Given the description of an element on the screen output the (x, y) to click on. 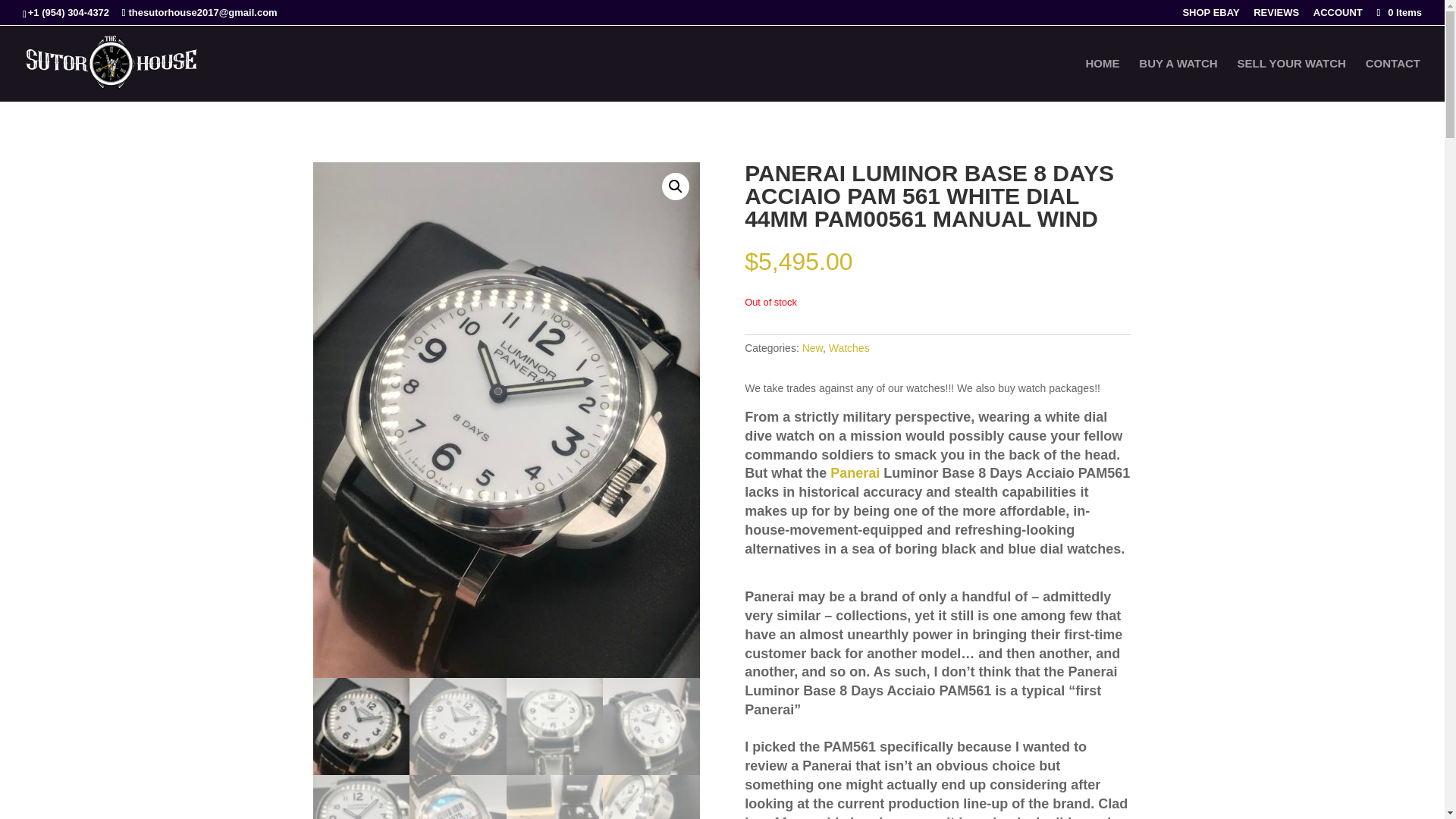
REVIEWS (1275, 16)
Watches (848, 347)
New (812, 347)
SHOP EBAY (1210, 16)
Panerai (854, 473)
CONTACT (1393, 78)
0 Items (1398, 12)
ACCOUNT (1337, 16)
SELL YOUR WATCH (1291, 78)
BUY A WATCH (1177, 78)
